Given the description of an element on the screen output the (x, y) to click on. 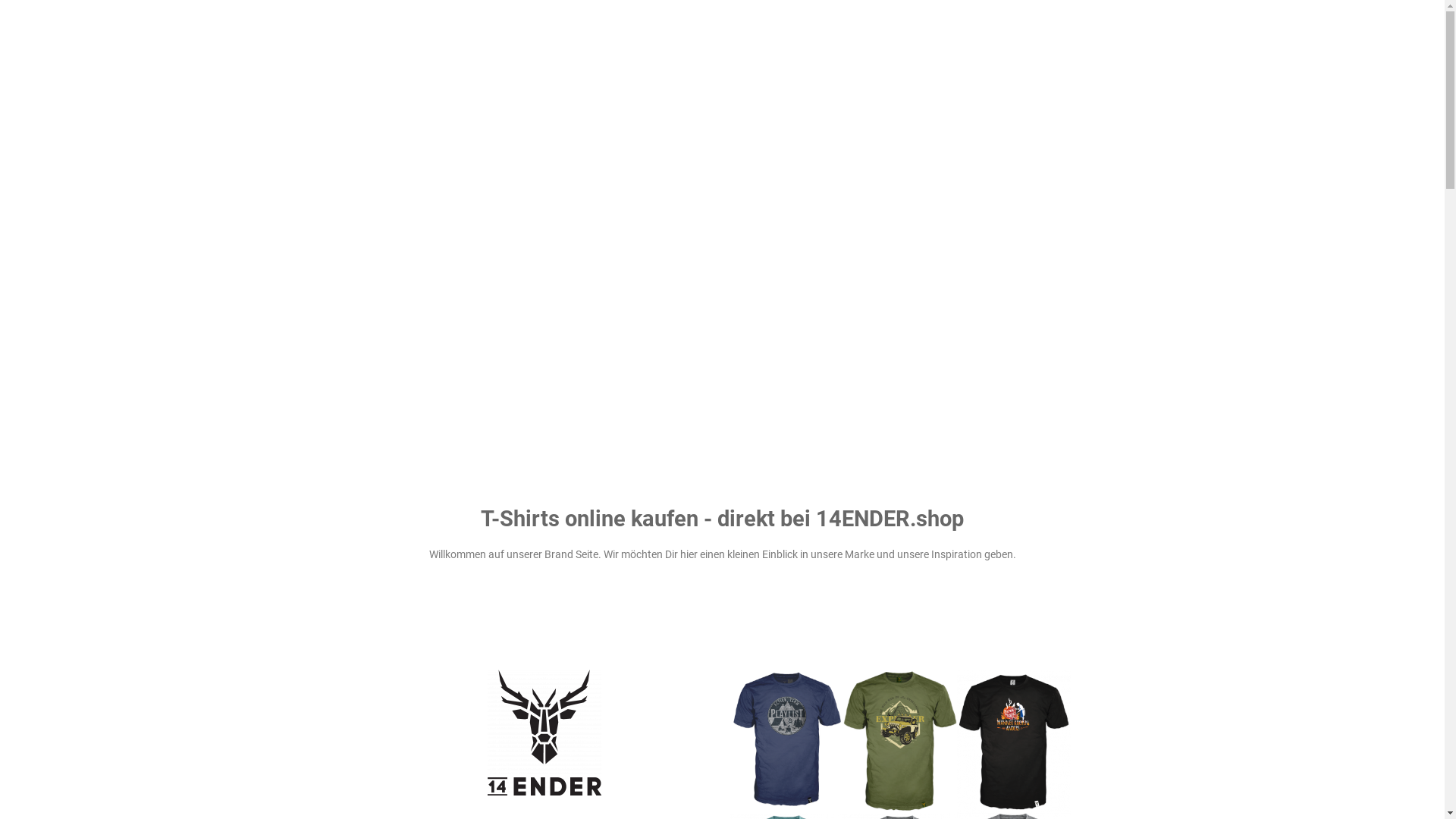
BEACH Element type: text (1045, 28)
URBAN Element type: text (1114, 28)
Kontakt Element type: text (757, 801)
ADVENTURE Element type: text (964, 28)
T-Shirts online kaufen - direkt bei 14ENDER.shop Element type: text (721, 518)
Cookie-Richtlinie (EU) Element type: text (981, 801)
Impressum Element type: text (805, 801)
14Ender_Logo_V1_Black 90px Element type: hover (543, 732)
joern@14ender.com Element type: text (367, 752)
